Given the description of an element on the screen output the (x, y) to click on. 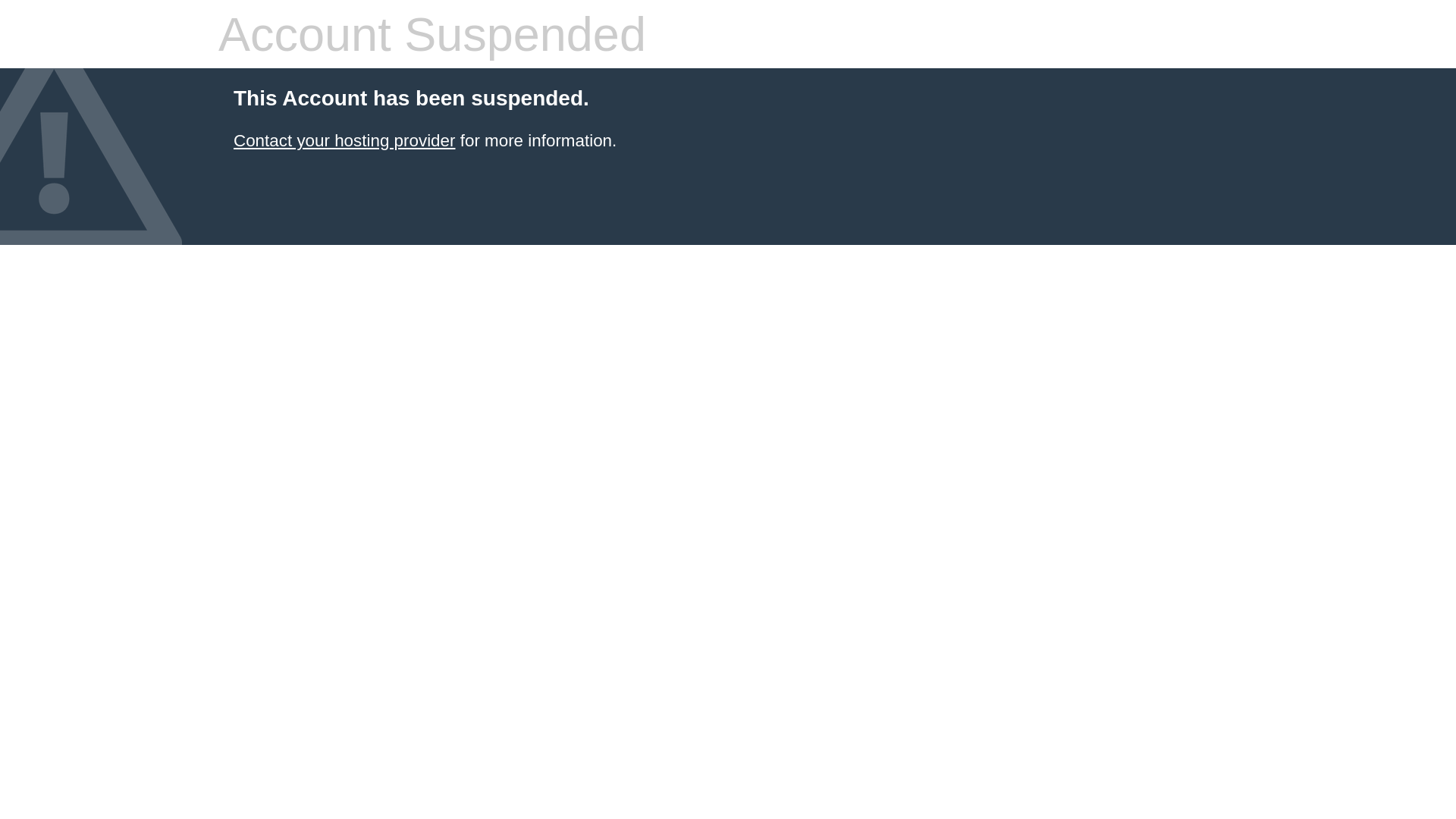
Contact your hosting provider Element type: text (344, 140)
